Given the description of an element on the screen output the (x, y) to click on. 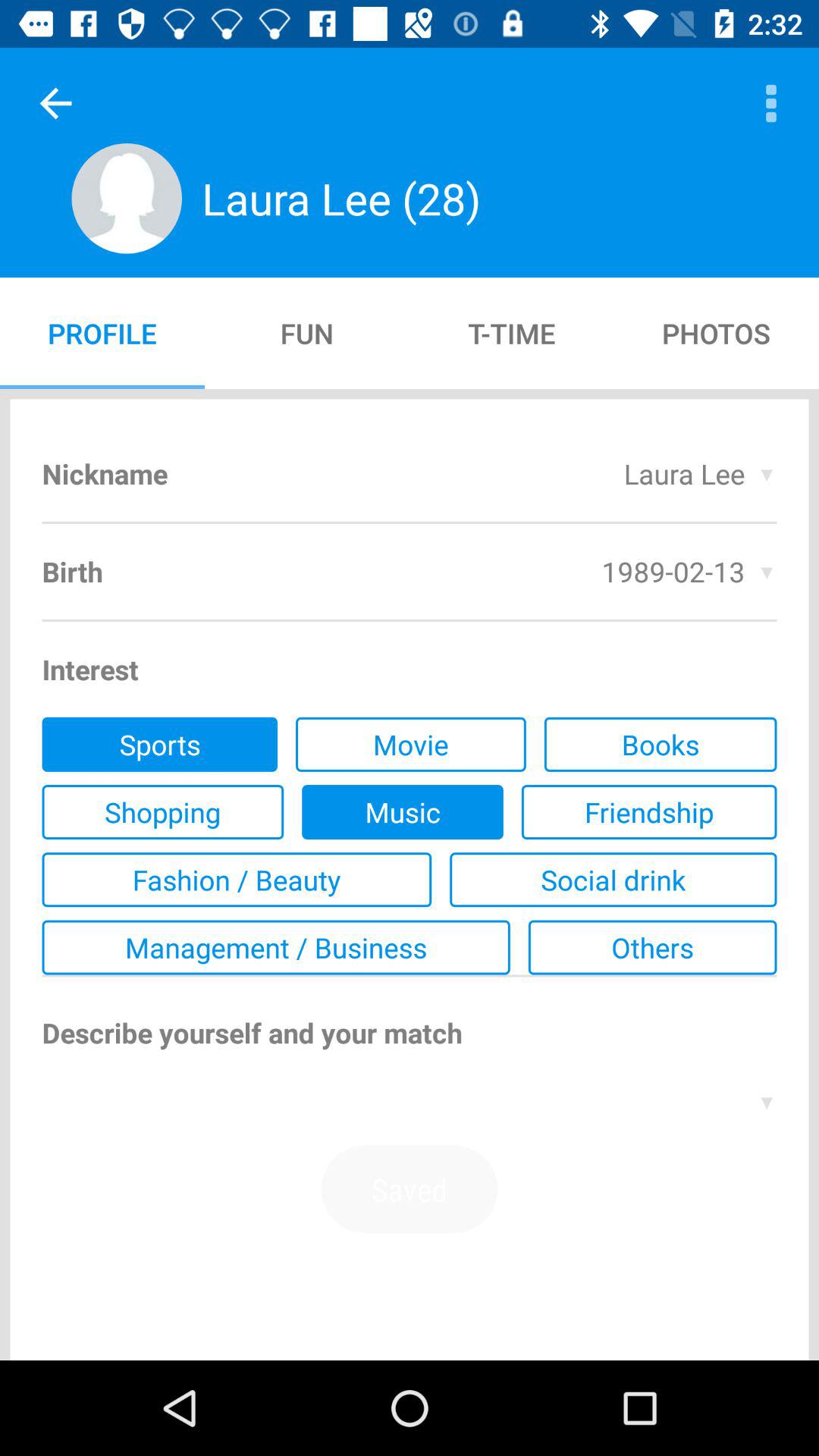
tap the others item (652, 947)
